Given the description of an element on the screen output the (x, y) to click on. 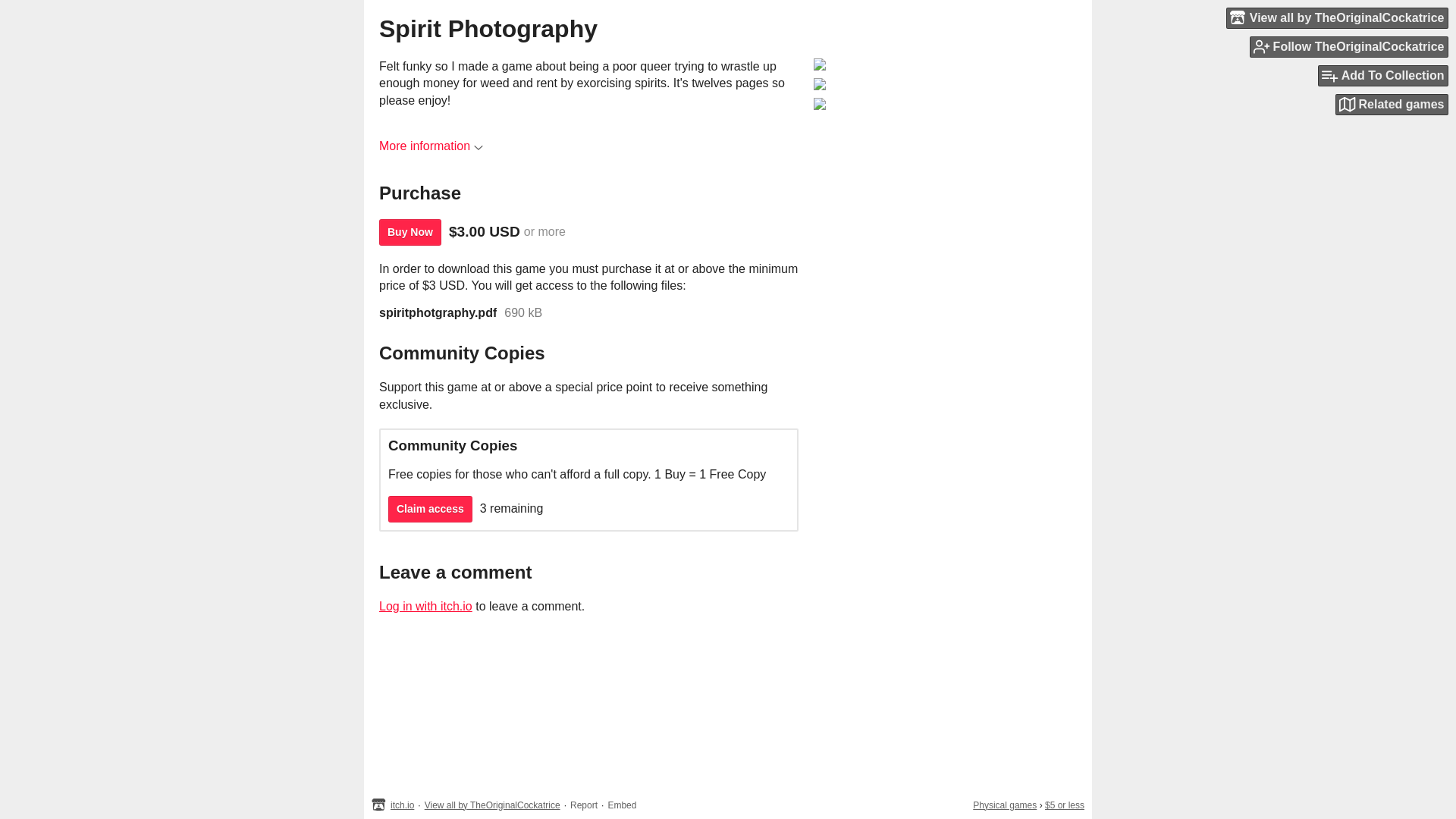
View all by TheOriginalCockatrice (1336, 17)
Embed (621, 804)
Add To Collection (1382, 75)
Physical games (1004, 804)
Related games (1391, 104)
itch.io (401, 804)
Claim access (429, 509)
More information (430, 145)
Log in with itch.io (424, 605)
Follow TheOriginalCockatrice (1348, 46)
